Given the description of an element on the screen output the (x, y) to click on. 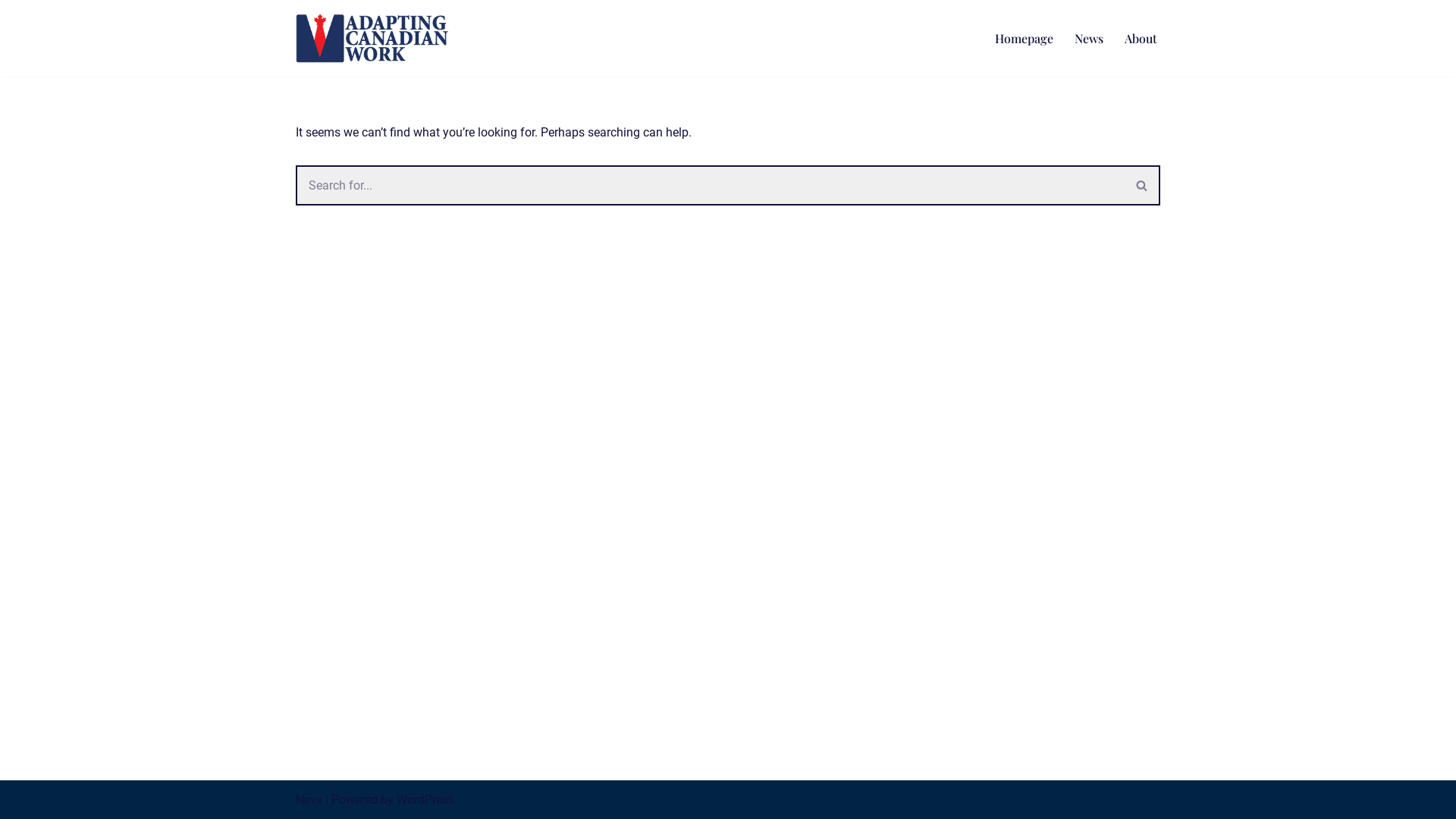
WordPress Element type: text (425, 799)
Adapting Canadian Work Element type: hover (375, 37)
About Element type: text (1140, 38)
Skip to content Element type: text (11, 31)
News Element type: text (1088, 38)
Neve Element type: text (308, 799)
Homepage Element type: text (1023, 38)
